Given the description of an element on the screen output the (x, y) to click on. 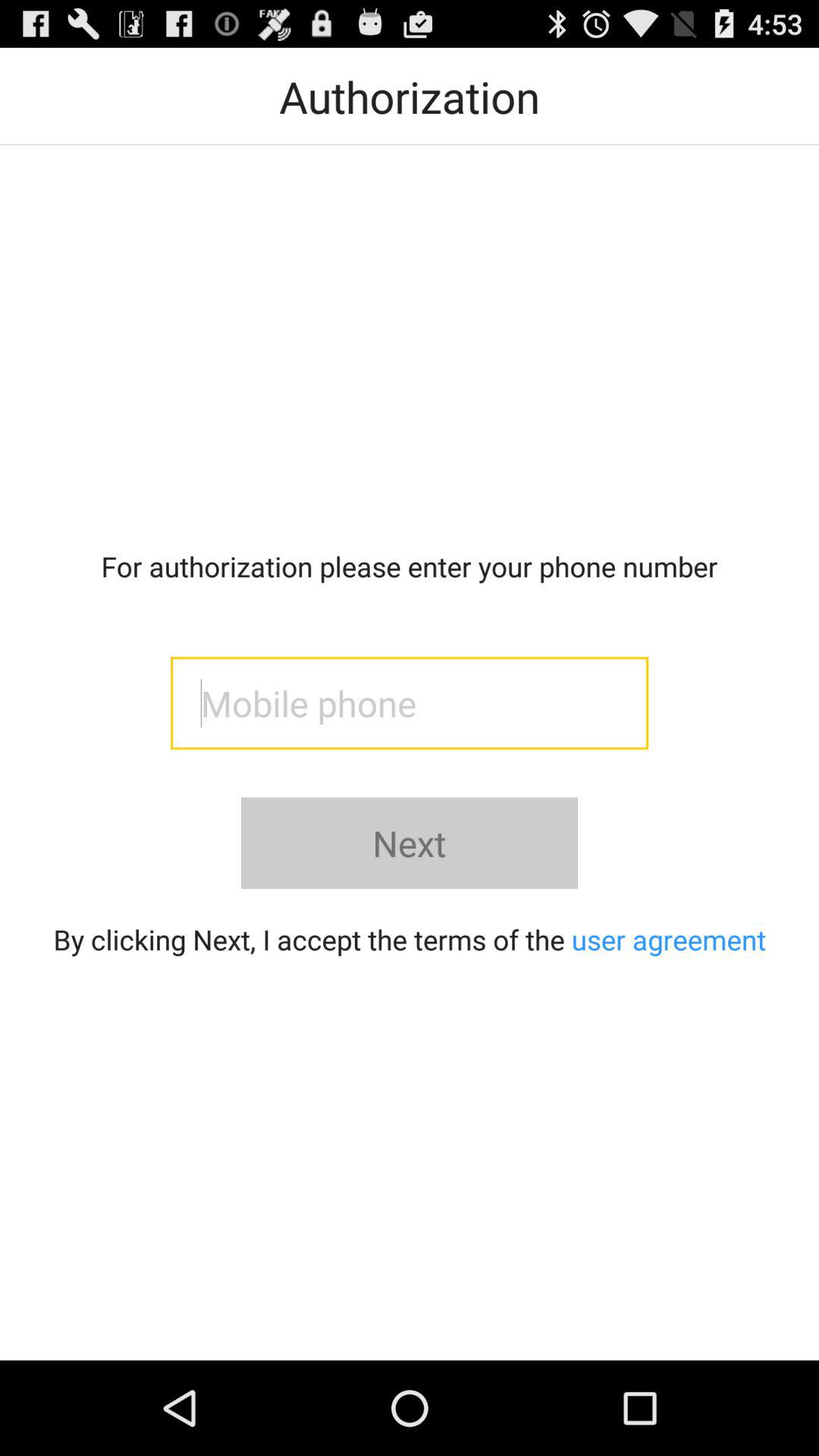
choose the by clicking next app (409, 939)
